Given the description of an element on the screen output the (x, y) to click on. 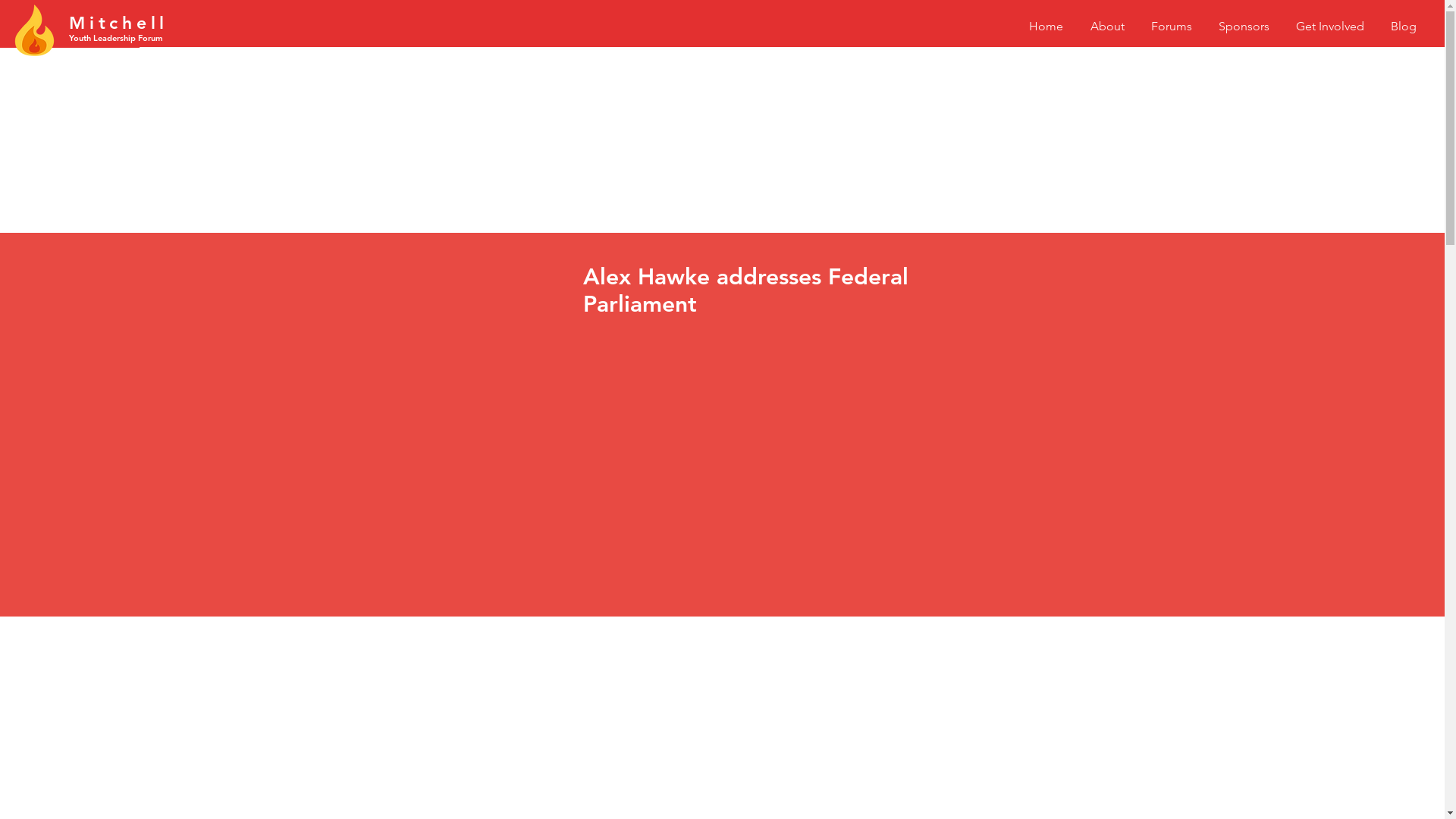
Blog Element type: text (1403, 26)
Sponsors Element type: text (1243, 26)
About Element type: text (1106, 26)
Forums Element type: text (1170, 26)
Get Involved Element type: text (1329, 26)
Home Element type: text (1045, 26)
Mitc Element type: text (95, 22)
hell Element type: text (145, 22)
External YouTube Element type: hover (749, 457)
